Given the description of an element on the screen output the (x, y) to click on. 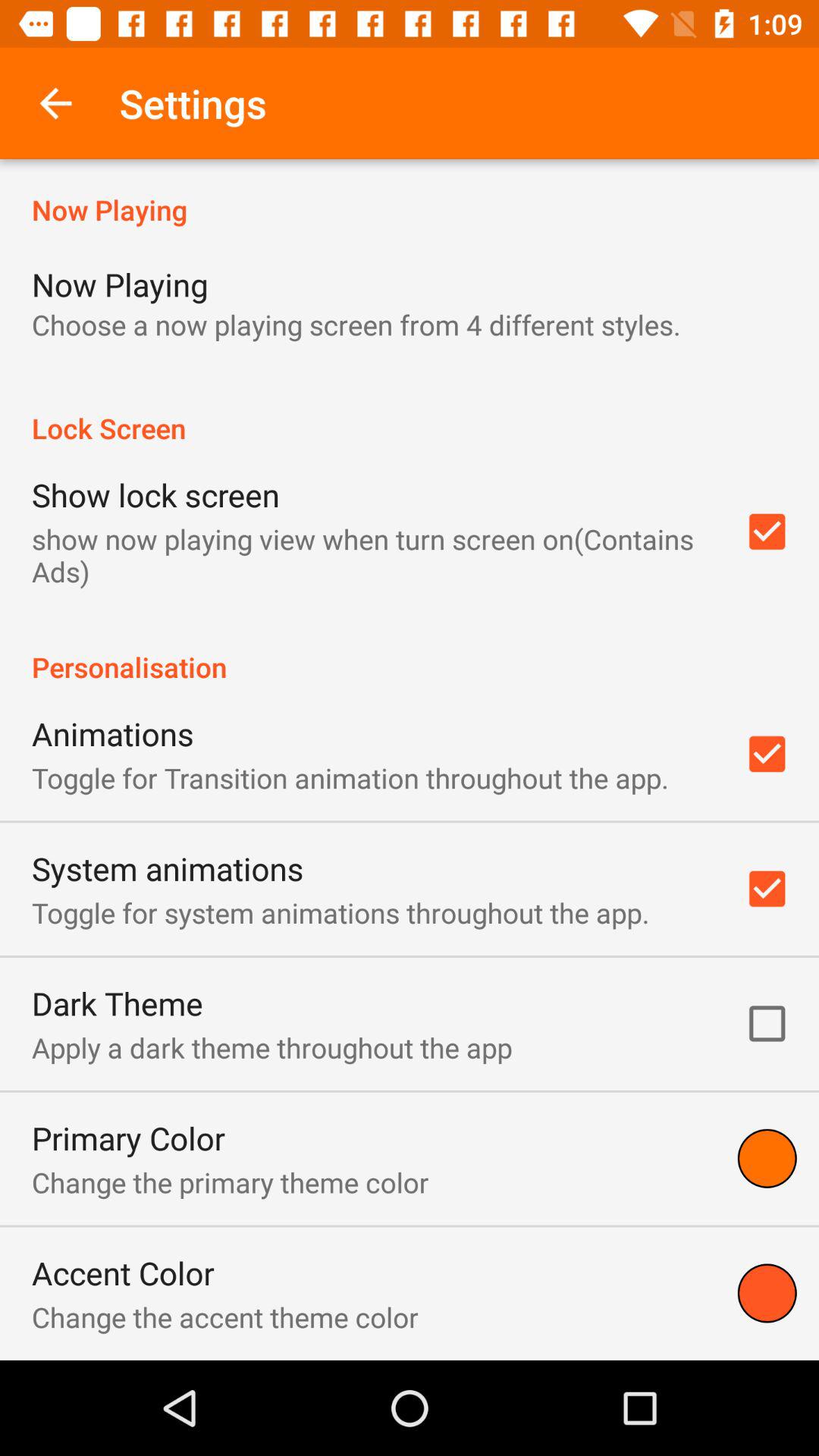
select icon to the left of settings icon (55, 103)
